Given the description of an element on the screen output the (x, y) to click on. 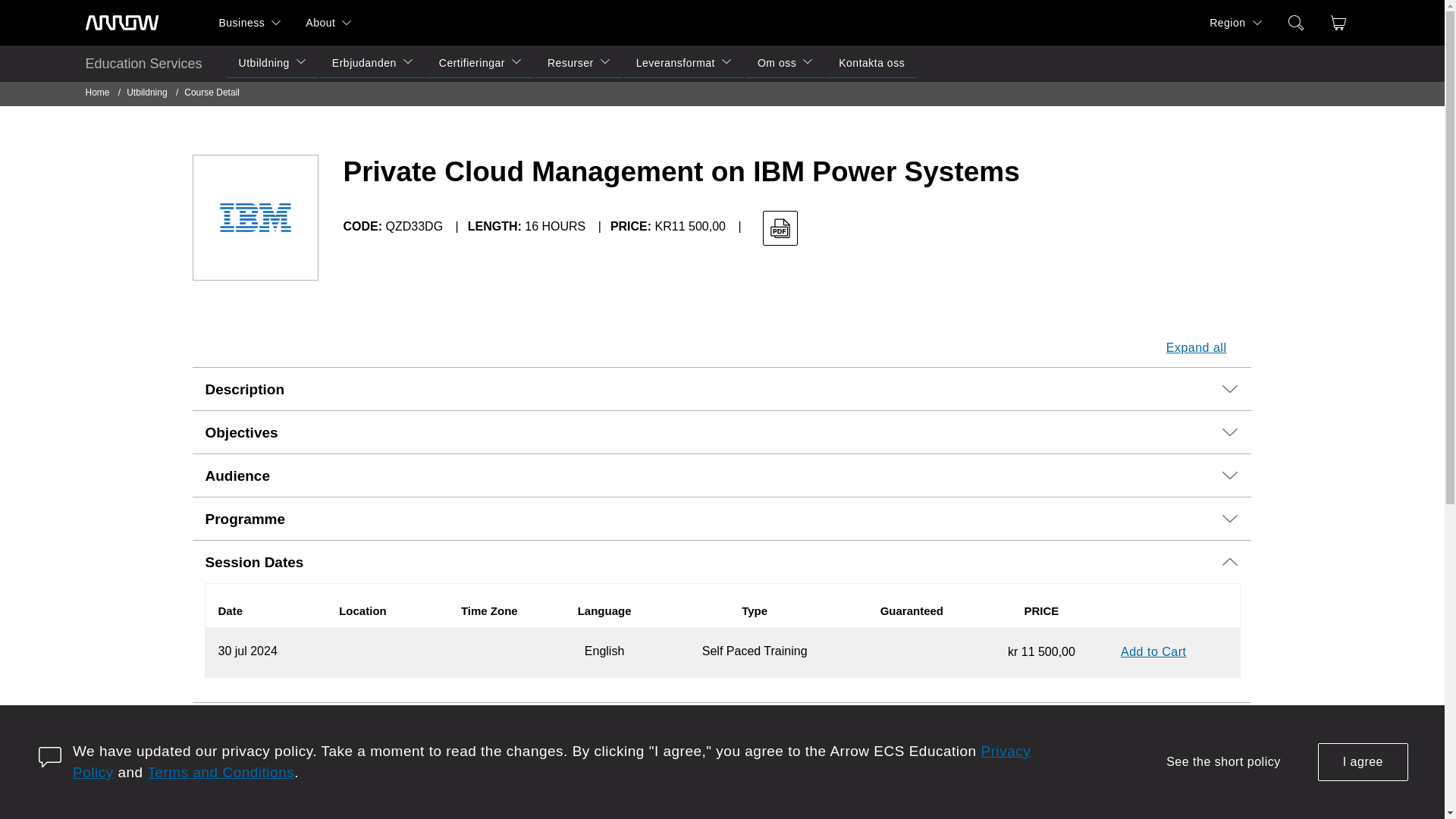
Business (235, 22)
Region (1220, 22)
Download PDF (779, 227)
About (314, 22)
